Given the description of an element on the screen output the (x, y) to click on. 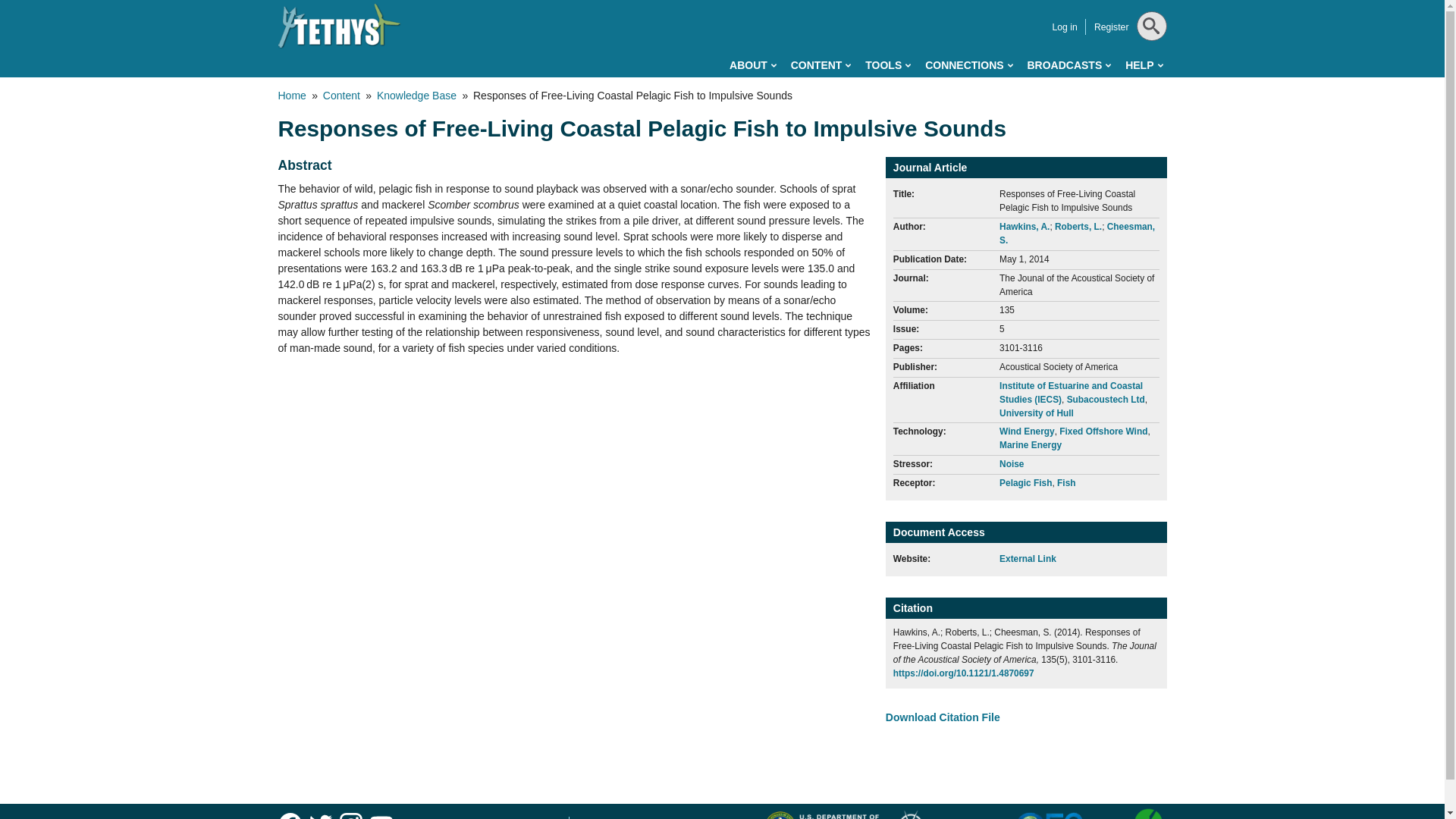
Search (1148, 64)
CONTENT (820, 65)
BROADCASTS (1068, 65)
Search (1148, 64)
TOOLS (887, 65)
Register (1111, 27)
Facebook logo (290, 814)
Home (339, 26)
Log in (1064, 27)
CONNECTIONS (967, 65)
YouTube logo (381, 814)
Skip to main content (654, 3)
HELP (1143, 65)
ABOUT (752, 65)
